Given the description of an element on the screen output the (x, y) to click on. 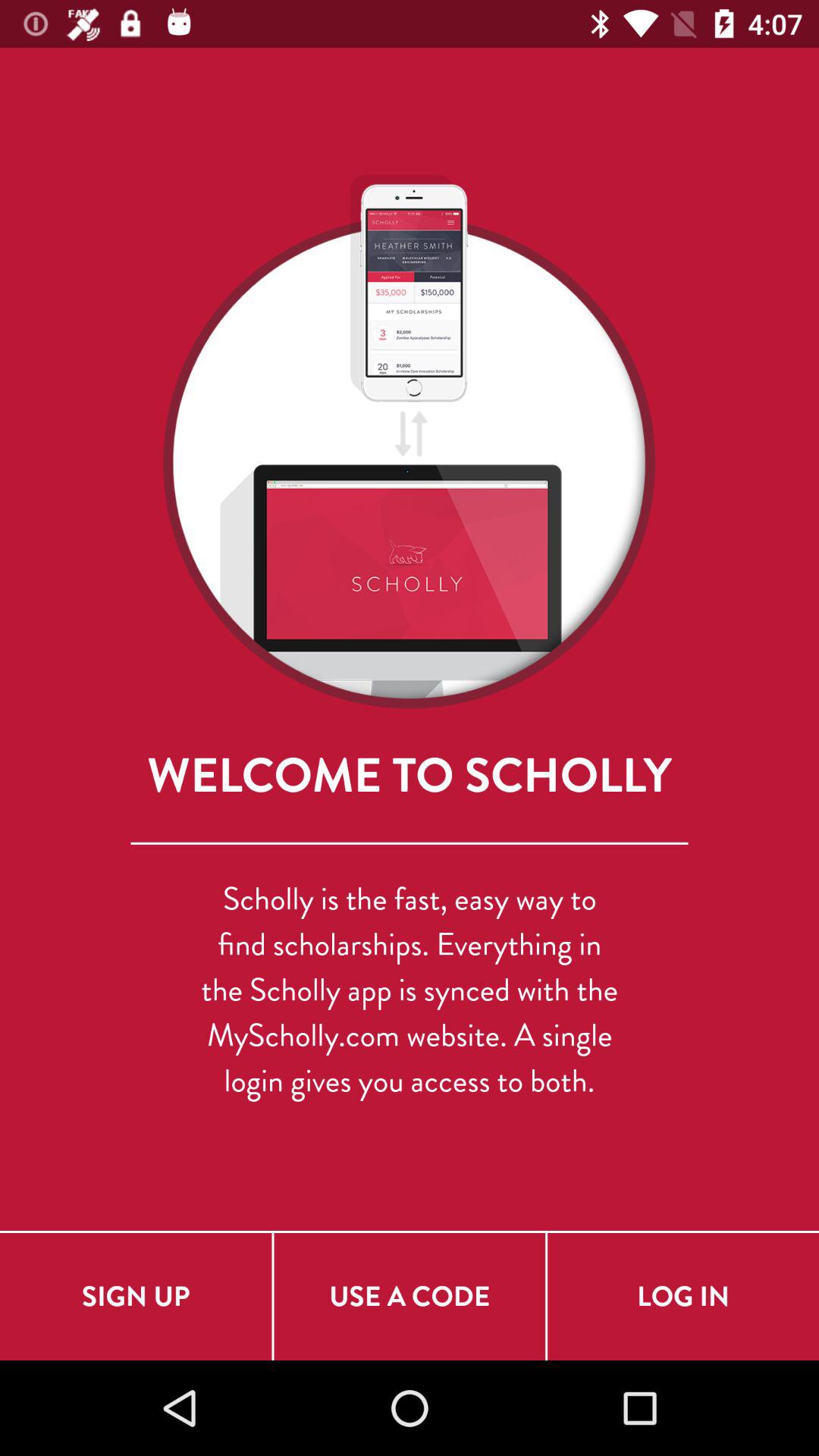
swipe to log in (683, 1296)
